Given the description of an element on the screen output the (x, y) to click on. 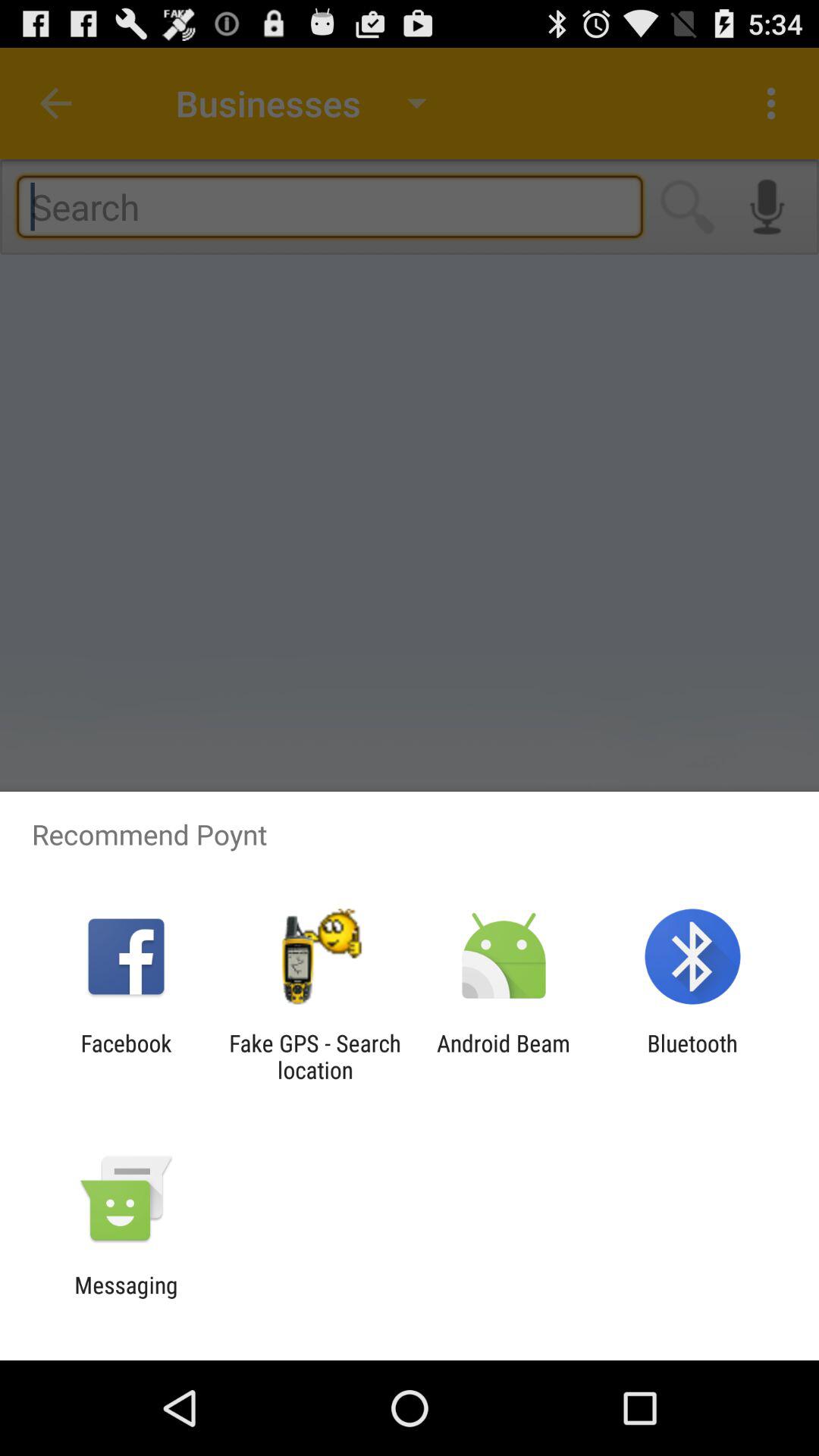
choose app to the left of android beam (314, 1056)
